Given the description of an element on the screen output the (x, y) to click on. 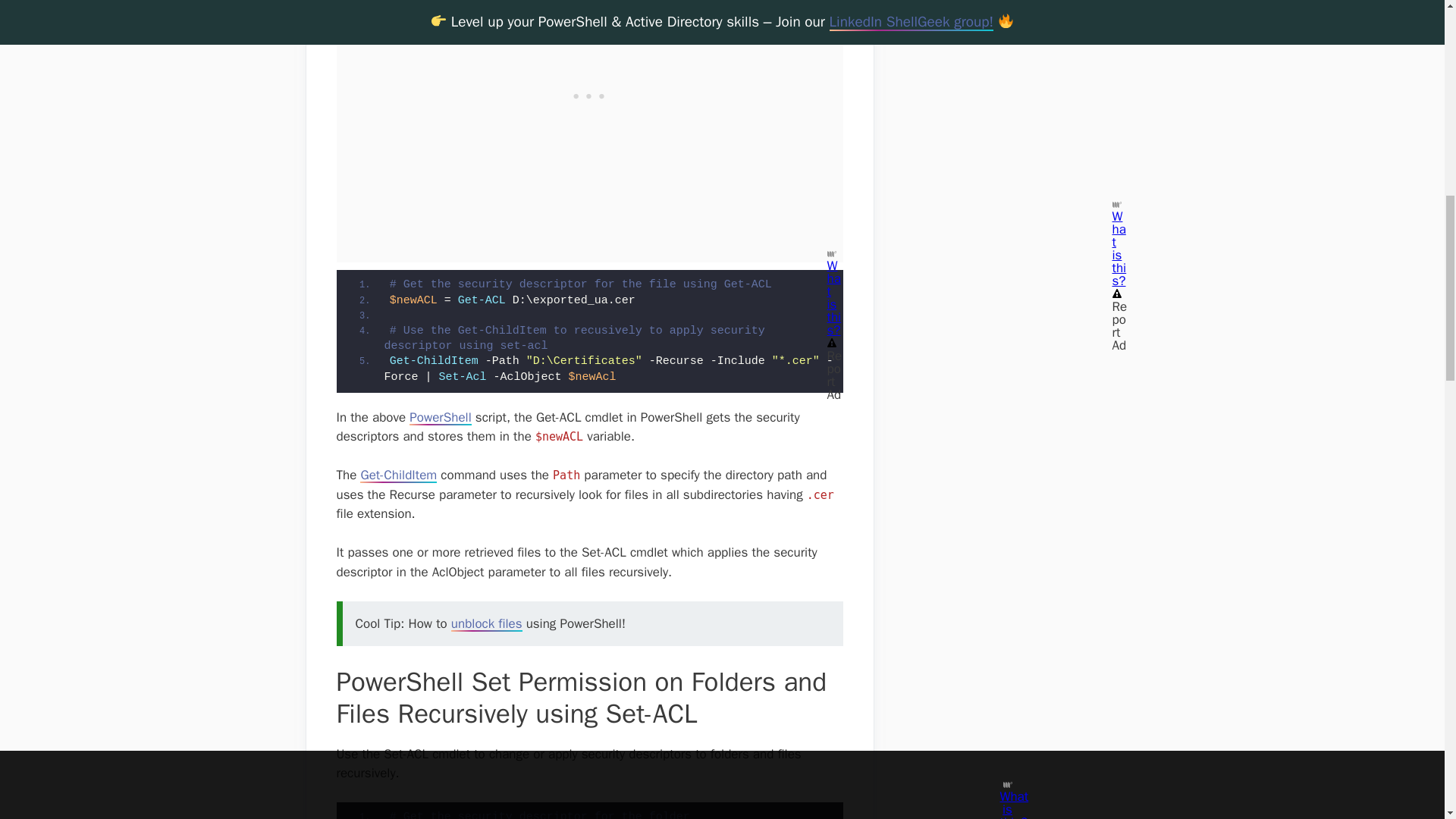
unblock files (486, 623)
Get-ChildItem (397, 474)
PowerShell (439, 417)
3rd party ad content (589, 58)
